Given the description of an element on the screen output the (x, y) to click on. 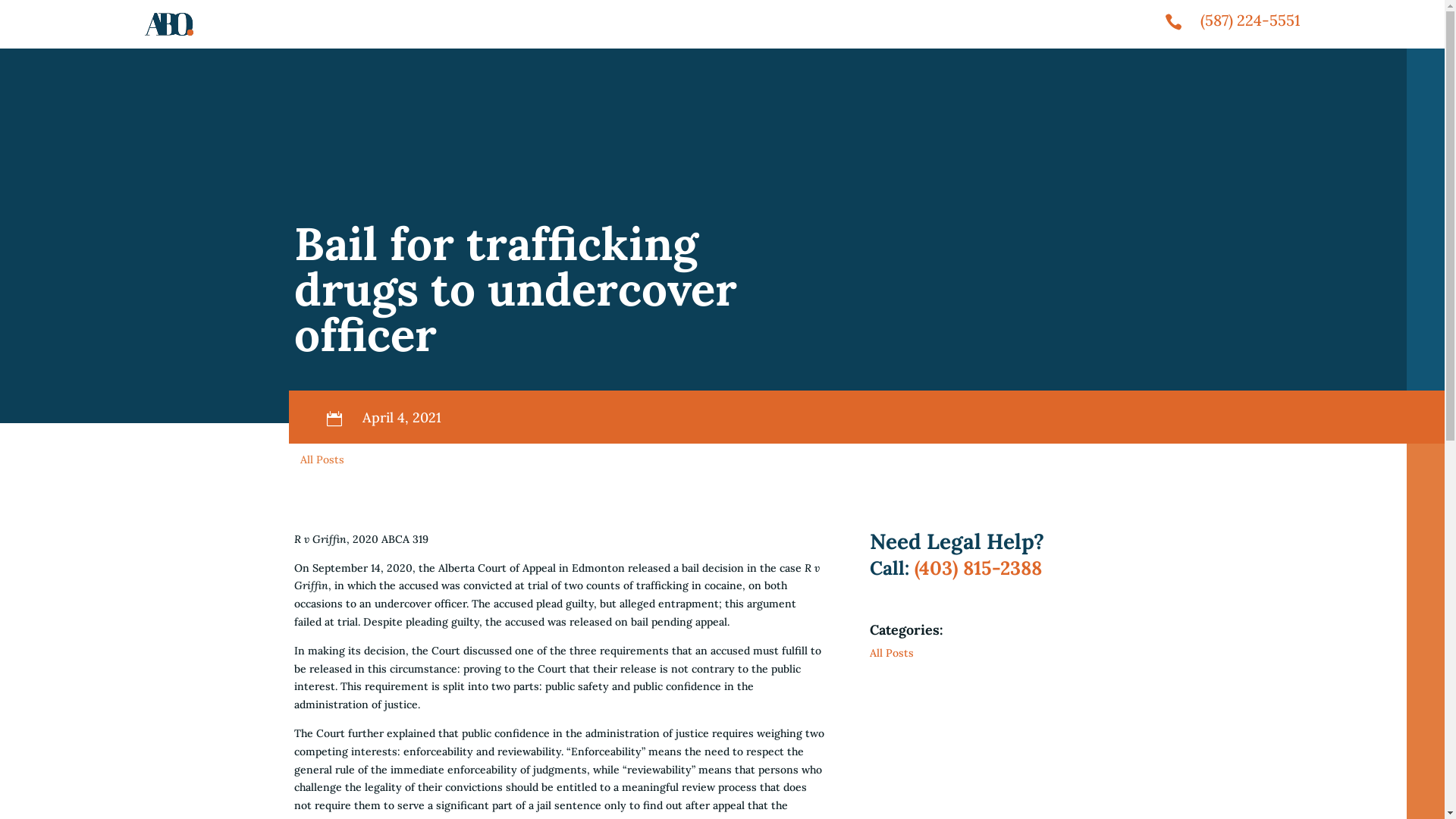
All Posts Element type: text (322, 459)
(587) 224-5551 Element type: text (1249, 19)
(403) 815-2388 Element type: text (977, 567)
Albert Bail Office Favicon Element type: hover (168, 24)
All Posts Element type: text (891, 652)
